Given the description of an element on the screen output the (x, y) to click on. 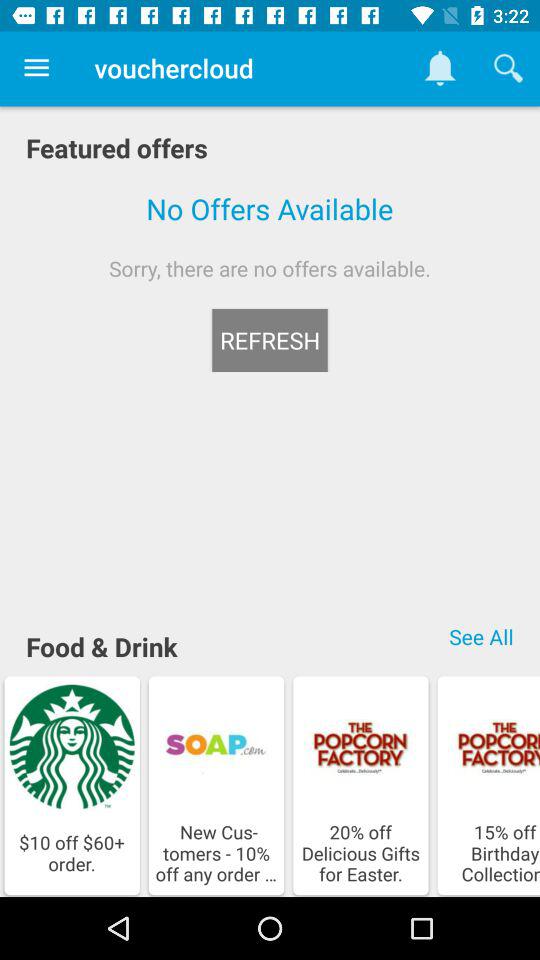
launch icon above featured offers item (36, 68)
